Given the description of an element on the screen output the (x, y) to click on. 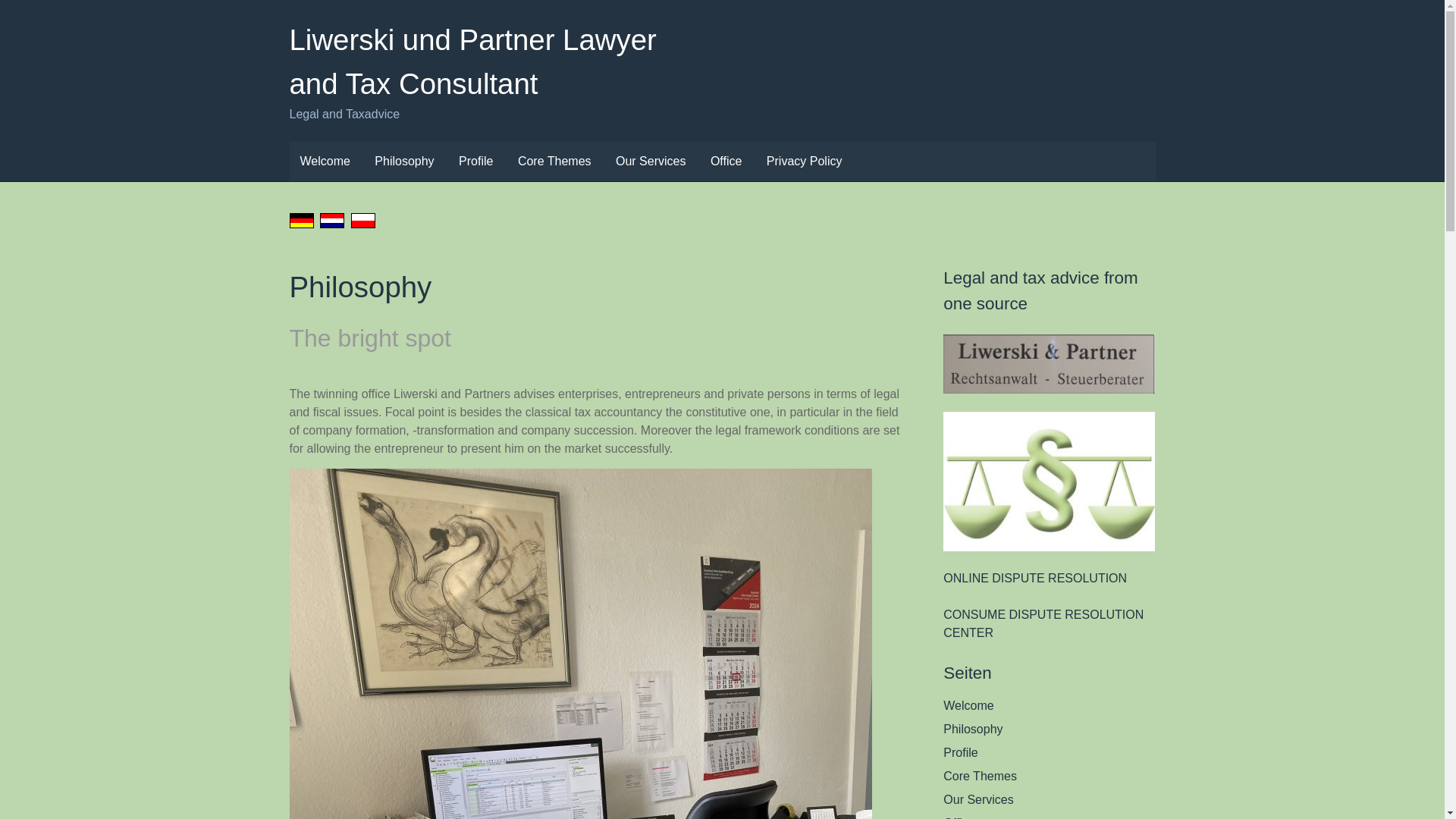
Core Themes (554, 160)
Office (726, 160)
CONSUME DISPUTE RESOLUTION CENTER (1042, 623)
Office (1048, 816)
Profile (475, 160)
Core Themes (1048, 776)
ONLINE DISPUTE RESOLUTION (1034, 577)
Welcome (1048, 705)
Our Services (1048, 800)
Welcome (325, 160)
